Given the description of an element on the screen output the (x, y) to click on. 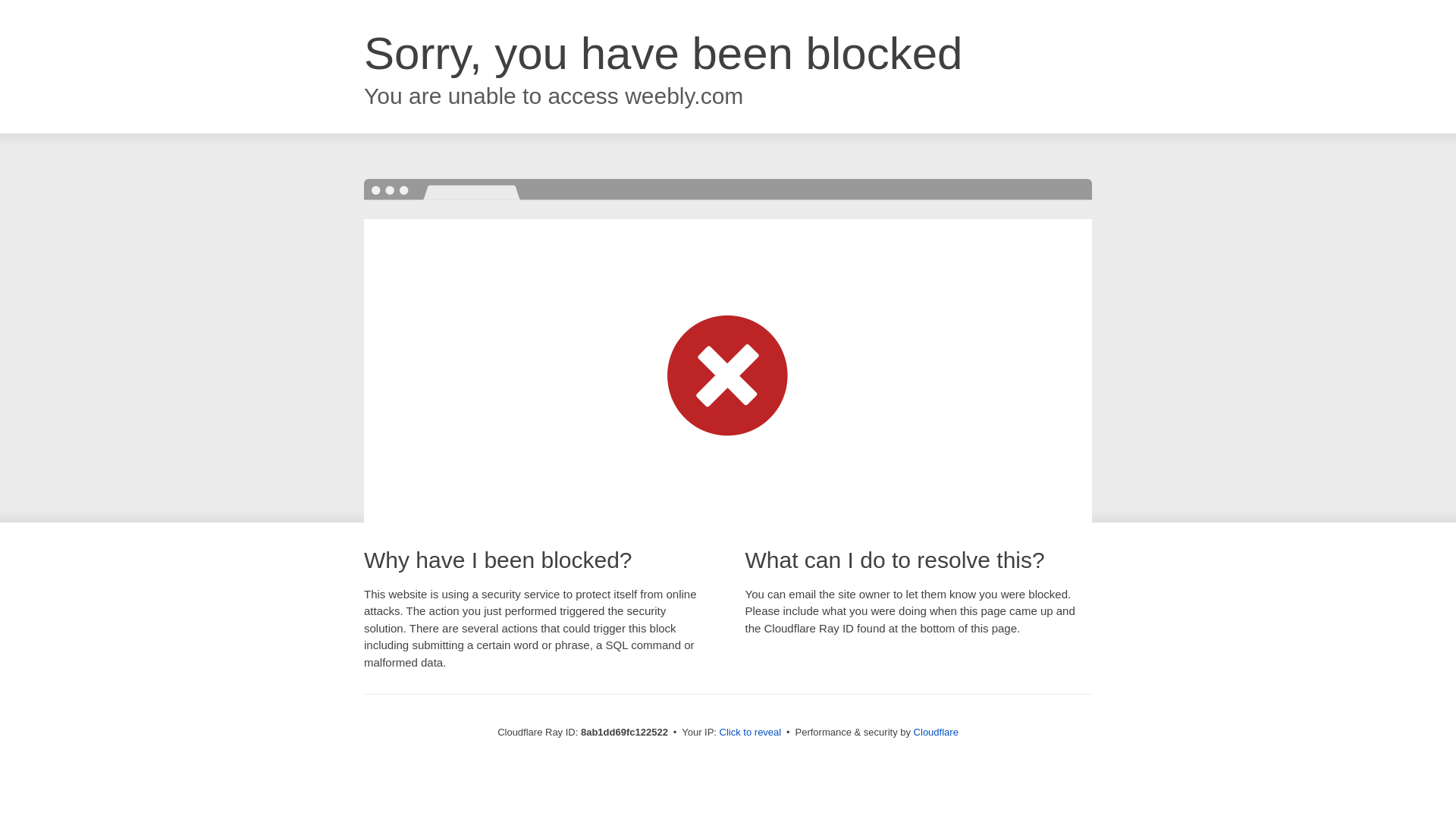
Click to reveal (750, 732)
Cloudflare (936, 731)
